Given the description of an element on the screen output the (x, y) to click on. 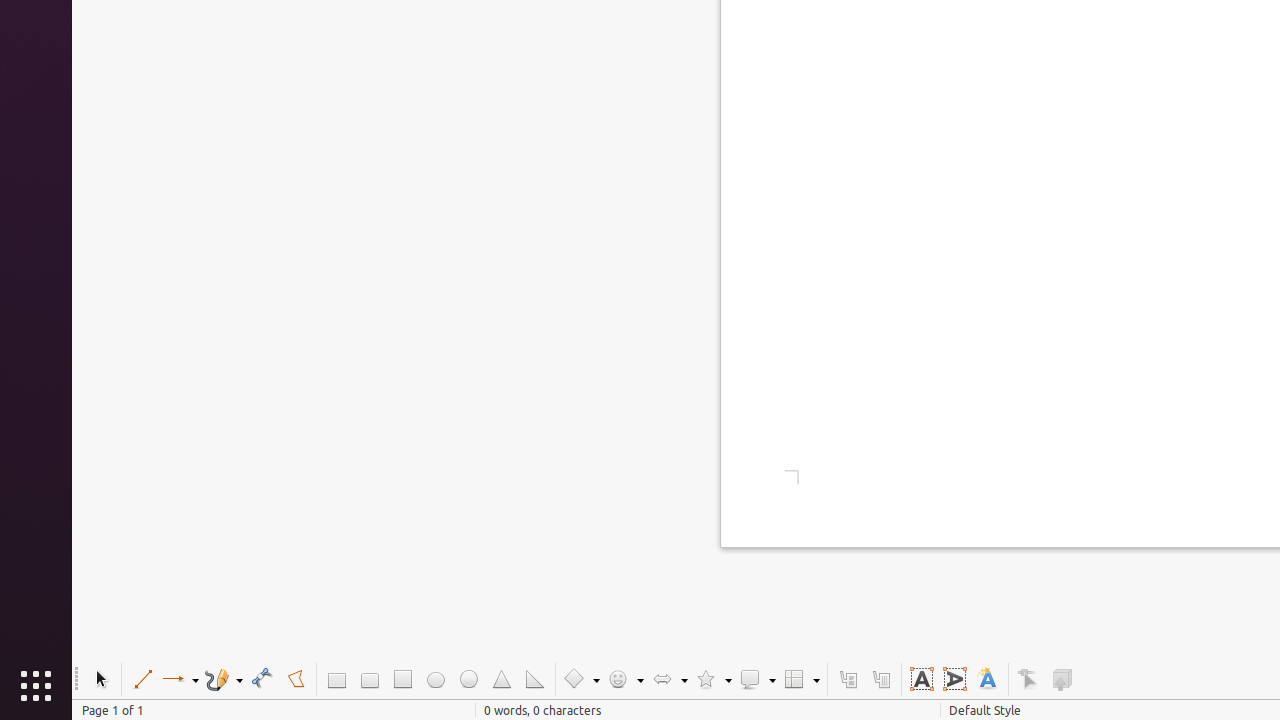
Vertical Callouts Element type: toggle-button (880, 679)
Lines and Arrows Element type: push-button (180, 679)
Edit Points Element type: push-button (1028, 679)
Show Applications Element type: toggle-button (36, 686)
Ellipse Element type: push-button (435, 679)
